Given the description of an element on the screen output the (x, y) to click on. 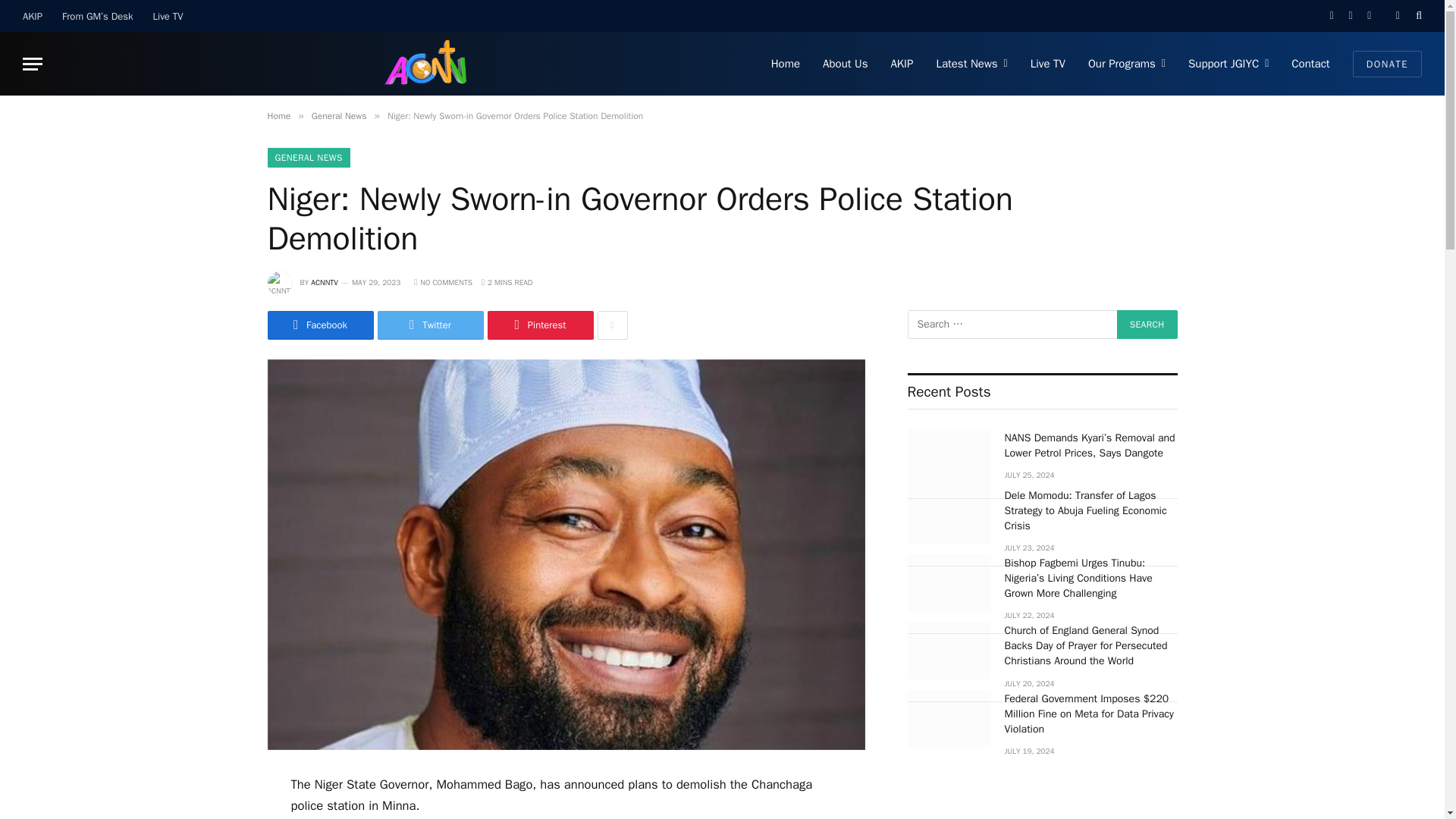
Live TV (167, 15)
Search (1146, 324)
Switch to Dark Design - easier on eyes. (1397, 15)
AKIP (32, 15)
Latest News (970, 63)
Advent Cable Network Nigeria (429, 63)
Our Programs (1126, 63)
Share on Facebook (319, 325)
Search (1146, 324)
Live TV (1048, 63)
Posts by ACNNTV (324, 282)
Share on Pinterest (539, 325)
About Us (844, 63)
